Given the description of an element on the screen output the (x, y) to click on. 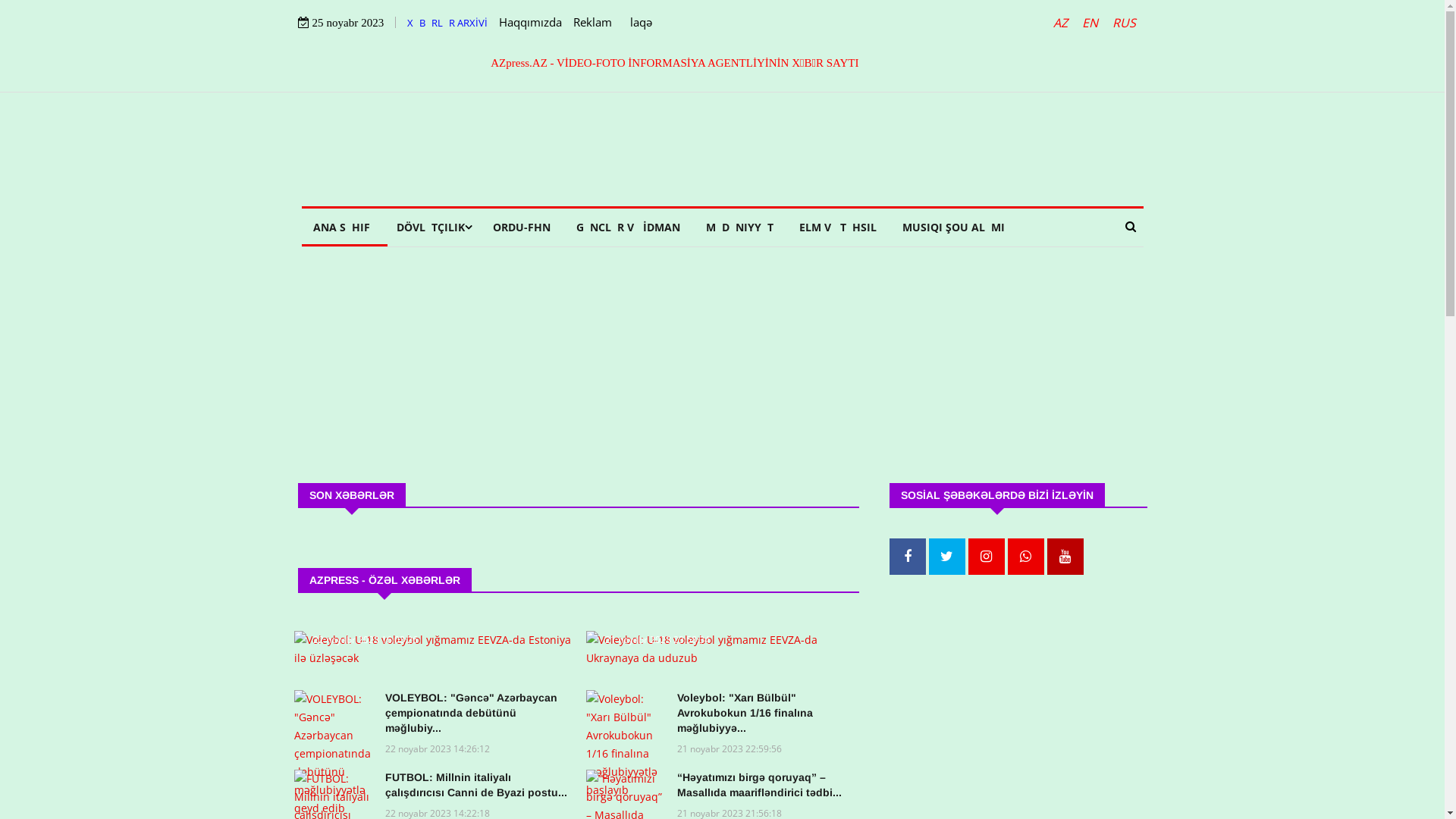
Reklam Element type: text (592, 21)
EN Element type: text (1090, 22)
ORDU-FHN Element type: text (520, 227)
RUS Element type: text (1123, 22)
AZ Element type: text (1061, 22)
